Given the description of an element on the screen output the (x, y) to click on. 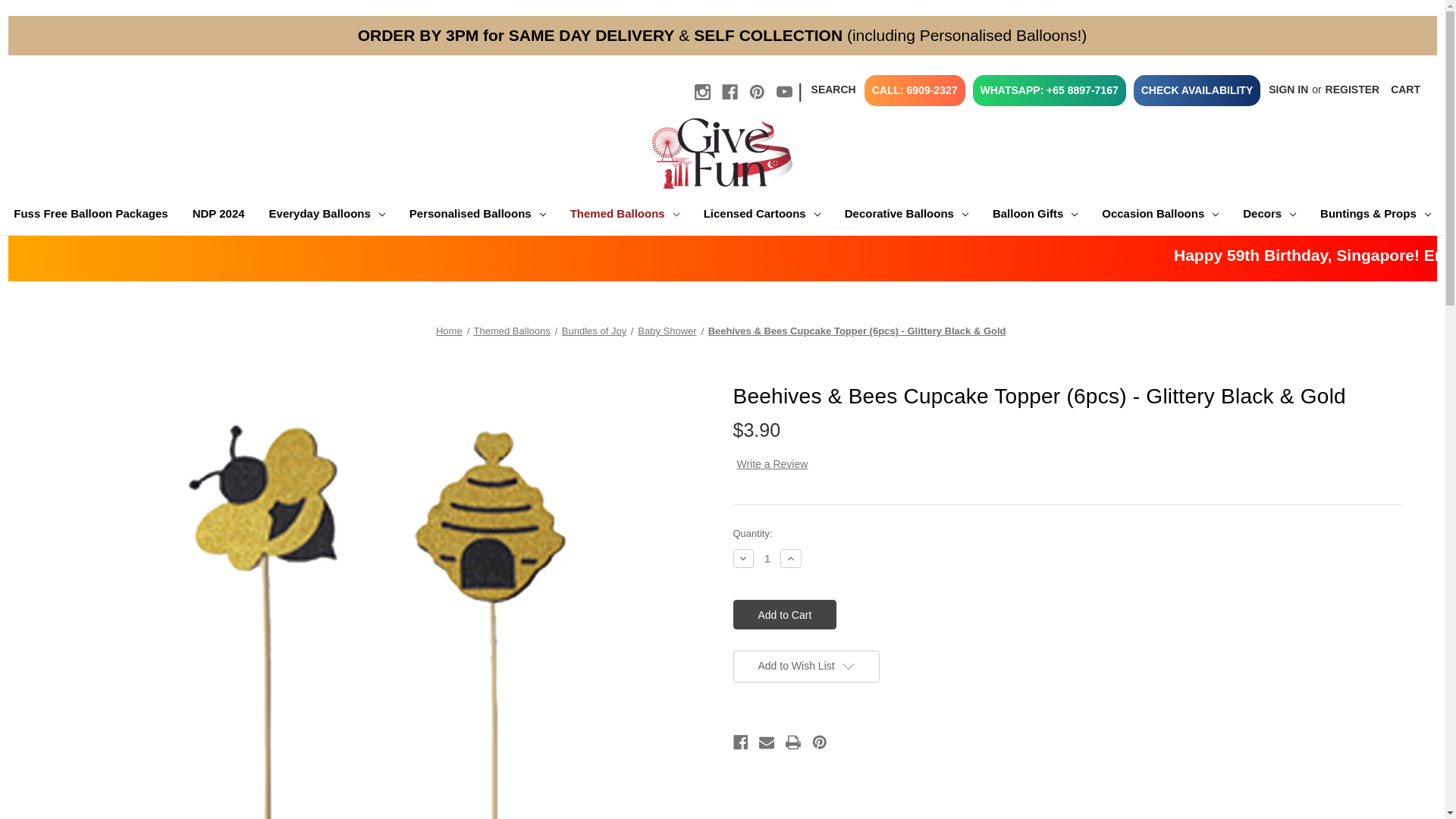
Give Fun (722, 153)
1 (767, 558)
CHECK AVAILABILITY (1197, 89)
CART (1404, 89)
SIGN IN (1288, 89)
SEARCH (833, 89)
CALL: 6909-2327 (914, 89)
Everyday Balloons (327, 215)
Add to Cart (783, 614)
NDP 2024 (218, 215)
Fuss Free Balloon Packages (90, 215)
REGISTER (1353, 89)
